Given the description of an element on the screen output the (x, y) to click on. 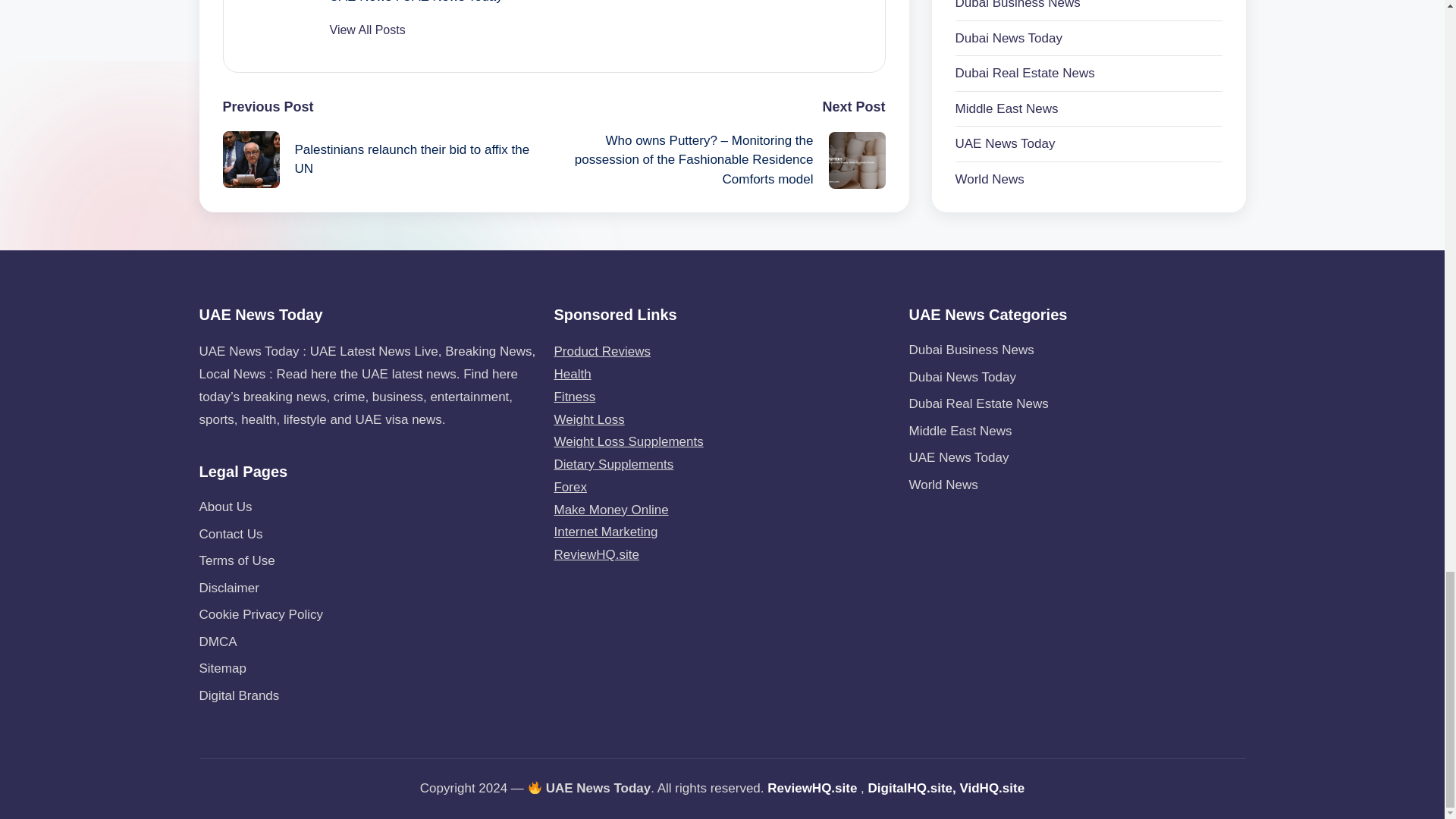
View All Posts (366, 29)
Palestinians relaunch their bid to affix the UN (388, 159)
